Given the description of an element on the screen output the (x, y) to click on. 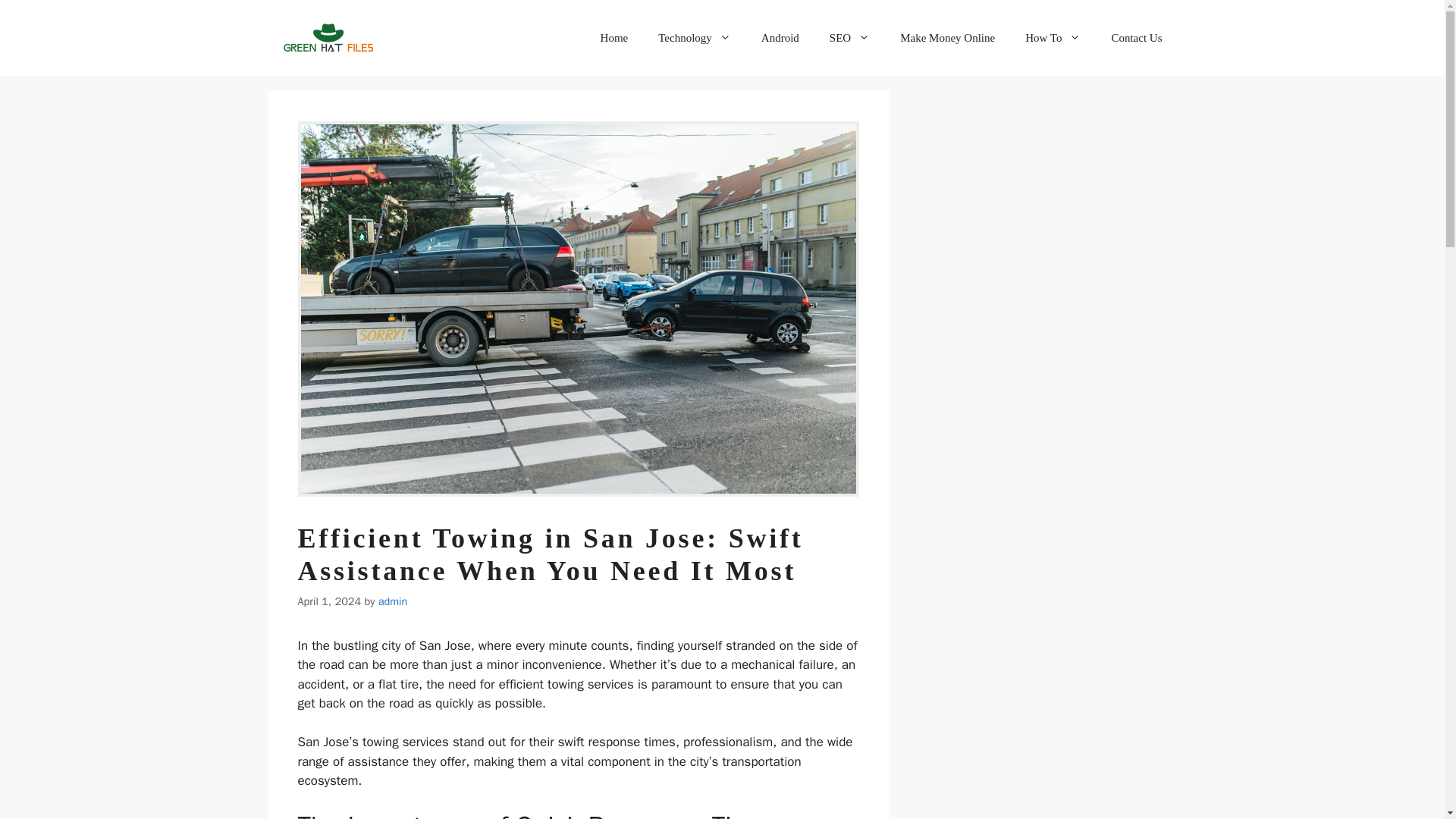
View all posts by admin (392, 601)
Technology (694, 37)
Home (614, 37)
